Given the description of an element on the screen output the (x, y) to click on. 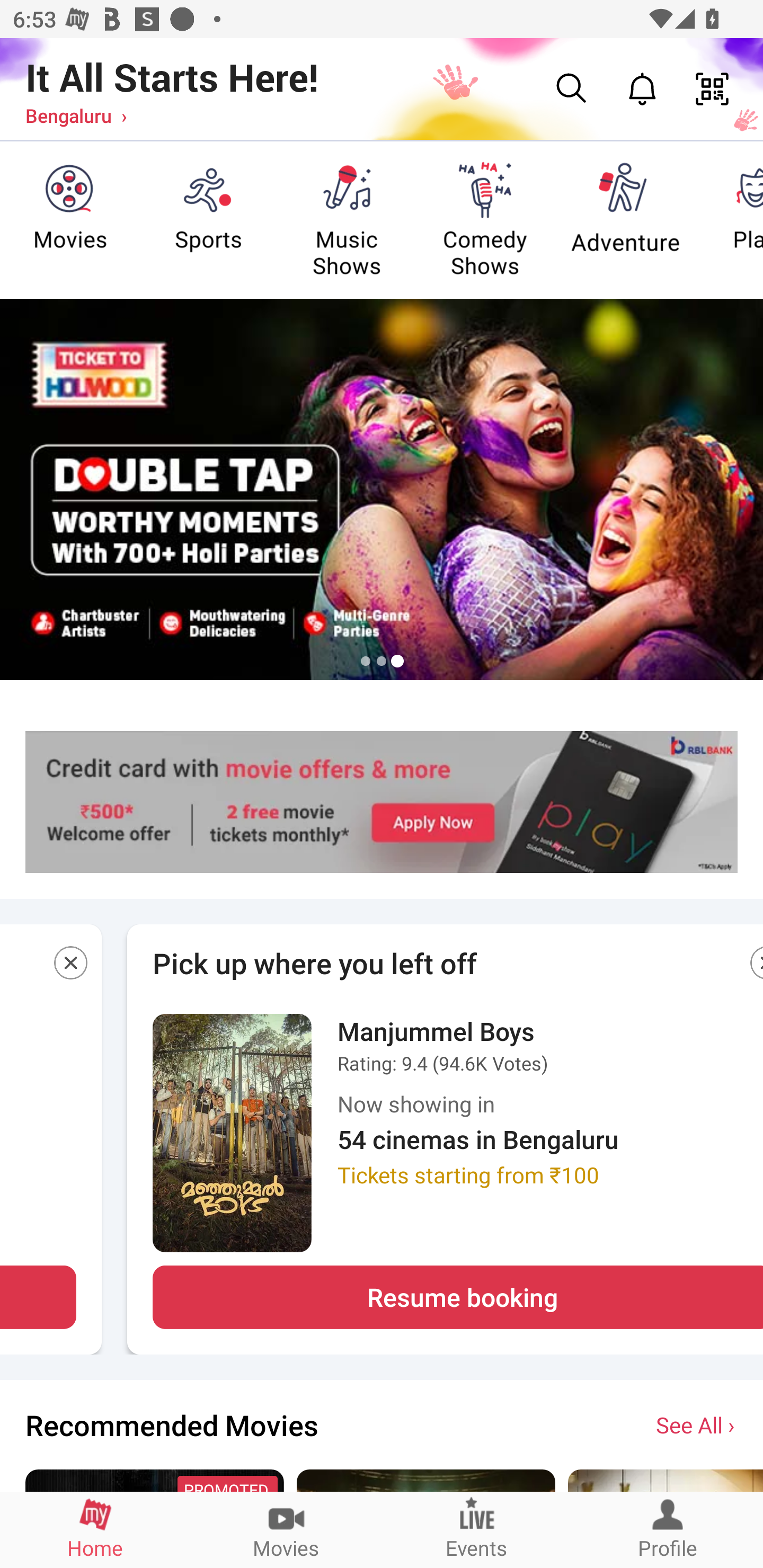
Bengaluru  › (76, 114)
  (71, 966)
Resume booking (457, 1297)
See All › (696, 1424)
Home (95, 1529)
Movies (285, 1529)
Events (476, 1529)
Profile (667, 1529)
